Given the description of an element on the screen output the (x, y) to click on. 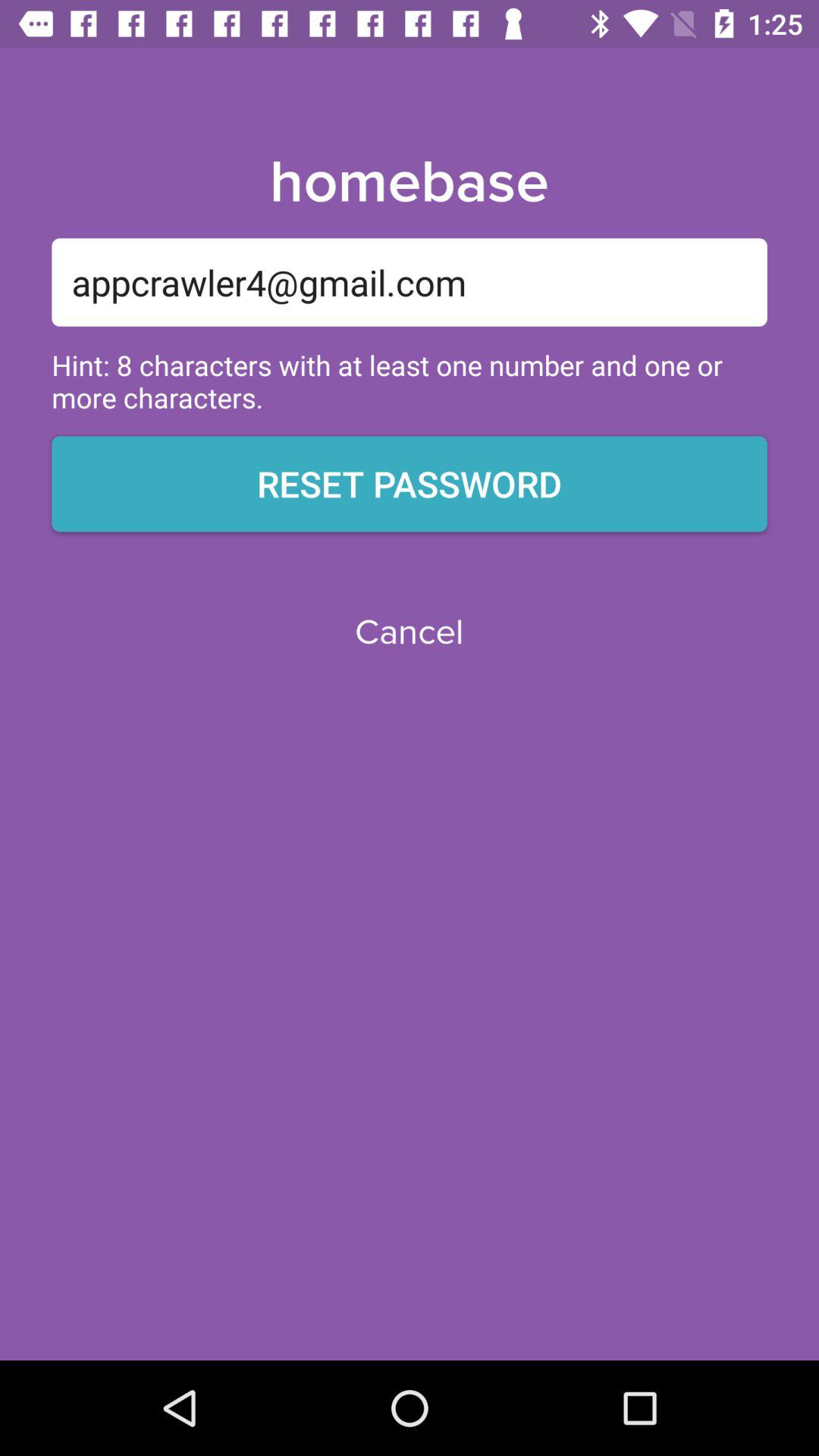
click homebase item (408, 182)
